Given the description of an element on the screen output the (x, y) to click on. 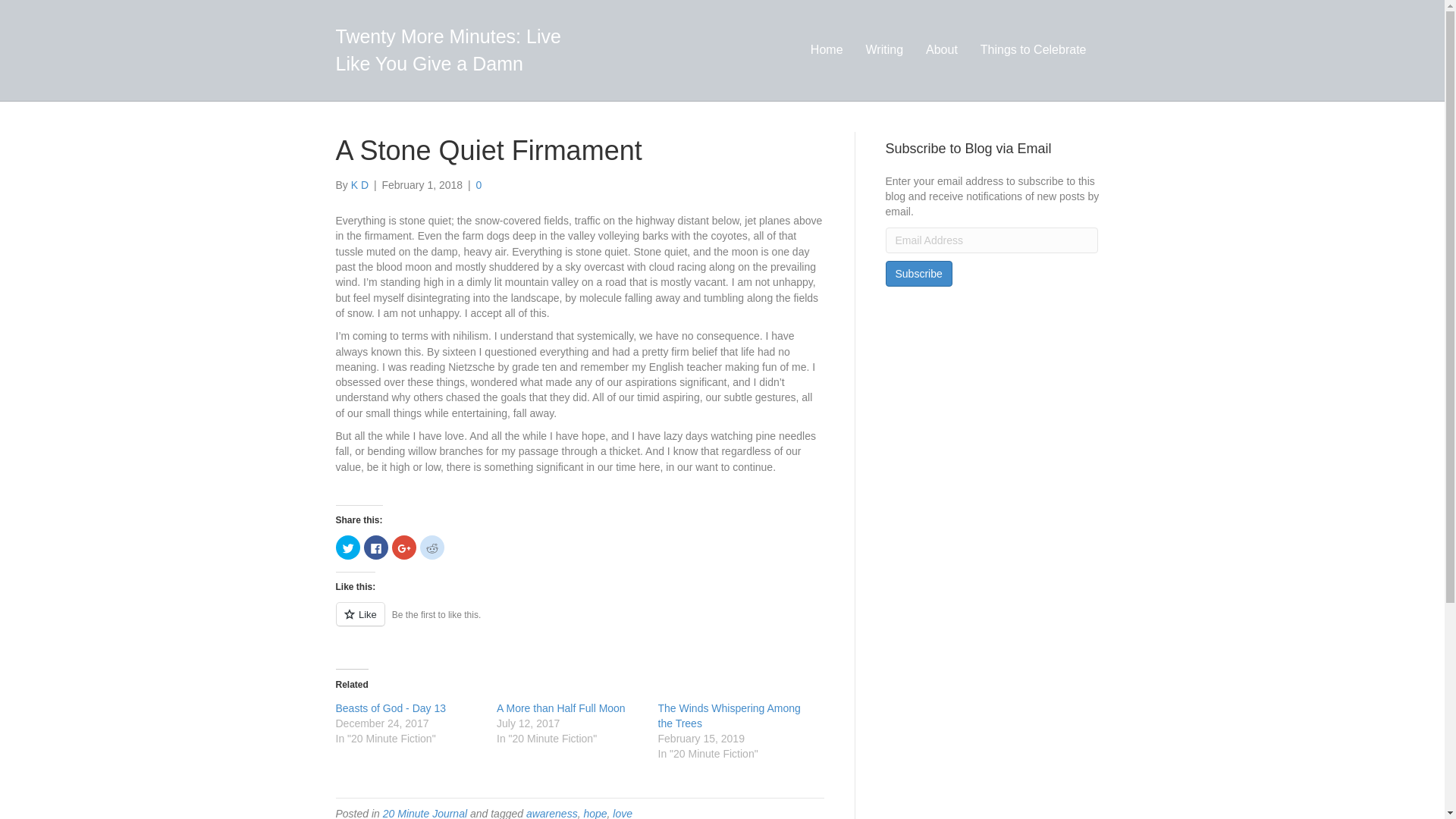
Click to share on Facebook (376, 547)
Click to share on Reddit (432, 547)
K D (359, 184)
hope (595, 813)
About (941, 49)
Subscribe (918, 273)
Subscribe (918, 273)
awareness (551, 813)
Home (826, 49)
love (621, 813)
Beasts of God - Day 13 (389, 707)
Twenty More Minutes: Live Like You Give a Damn (457, 49)
The Winds Whispering Among the Trees (729, 715)
20 Minute Journal (424, 813)
Things to Celebrate (1033, 49)
